Given the description of an element on the screen output the (x, y) to click on. 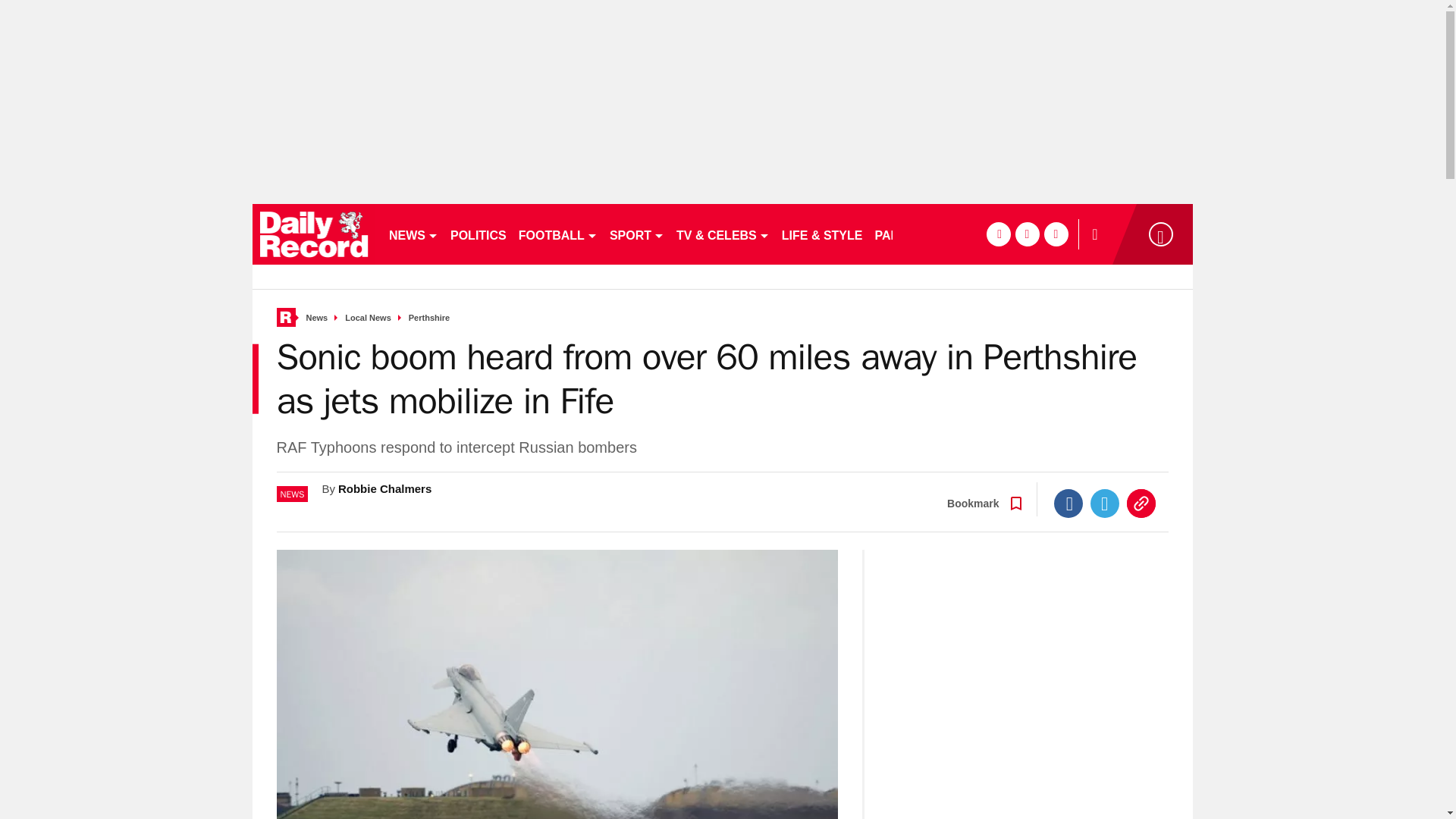
facebook (997, 233)
dailyrecord (313, 233)
FOOTBALL (558, 233)
SPORT (636, 233)
Twitter (1104, 502)
POLITICS (478, 233)
NEWS (413, 233)
Facebook (1068, 502)
instagram (1055, 233)
twitter (1026, 233)
